Given the description of an element on the screen output the (x, y) to click on. 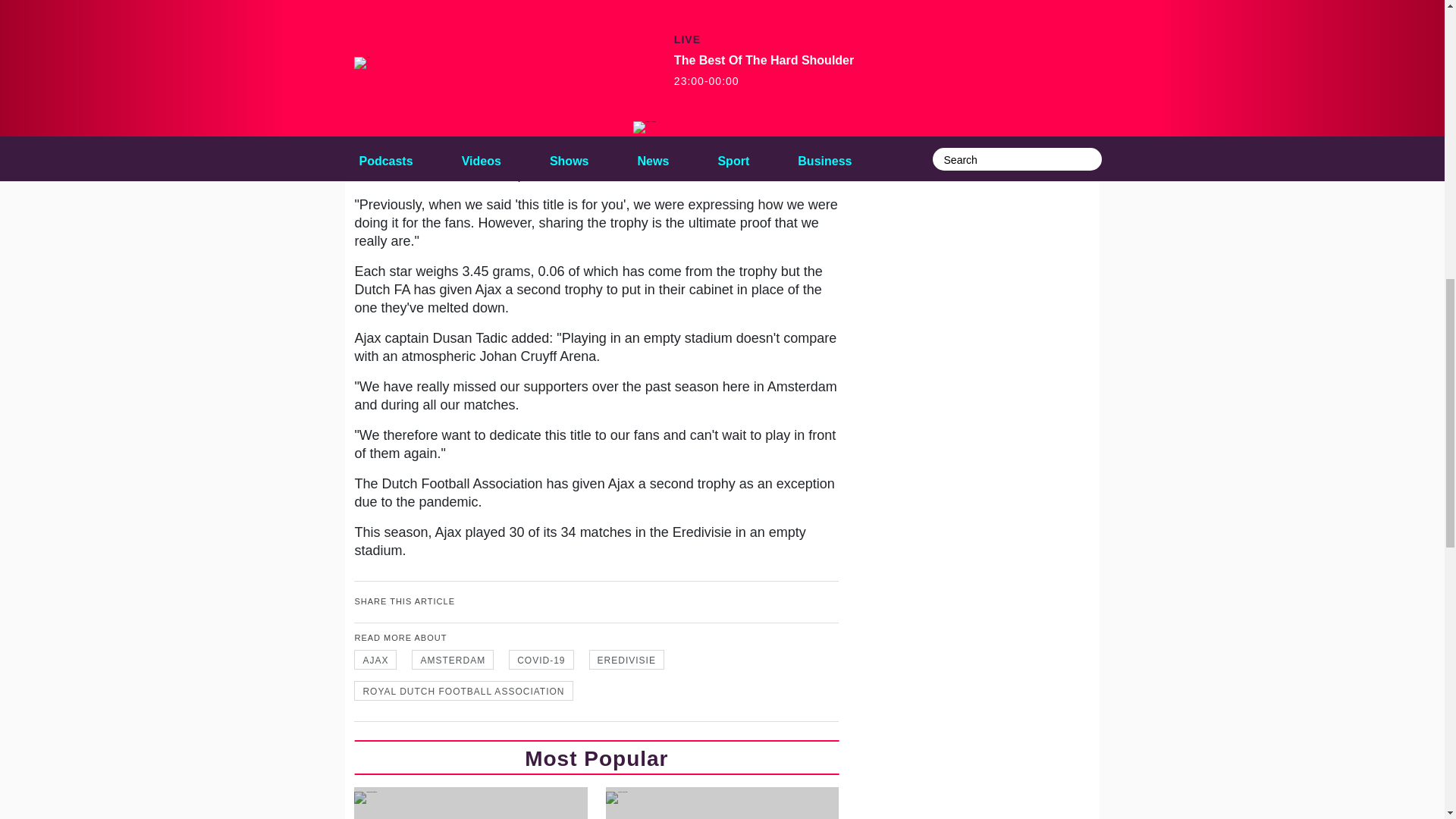
May 12, 2021 (584, 75)
ROYAL DUTCH FOOTBALL ASSOCIATION (462, 690)
AJAX (374, 659)
AMSTERDAM (452, 659)
COVID-19 (540, 659)
EREDIVISIE (626, 659)
